Given the description of an element on the screen output the (x, y) to click on. 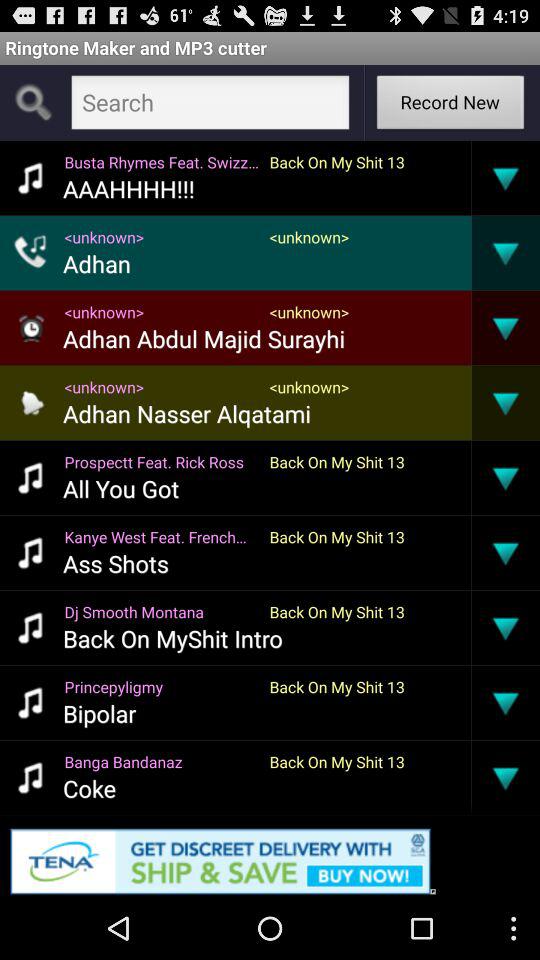
click the app to the left of back on my (128, 188)
